Given the description of an element on the screen output the (x, y) to click on. 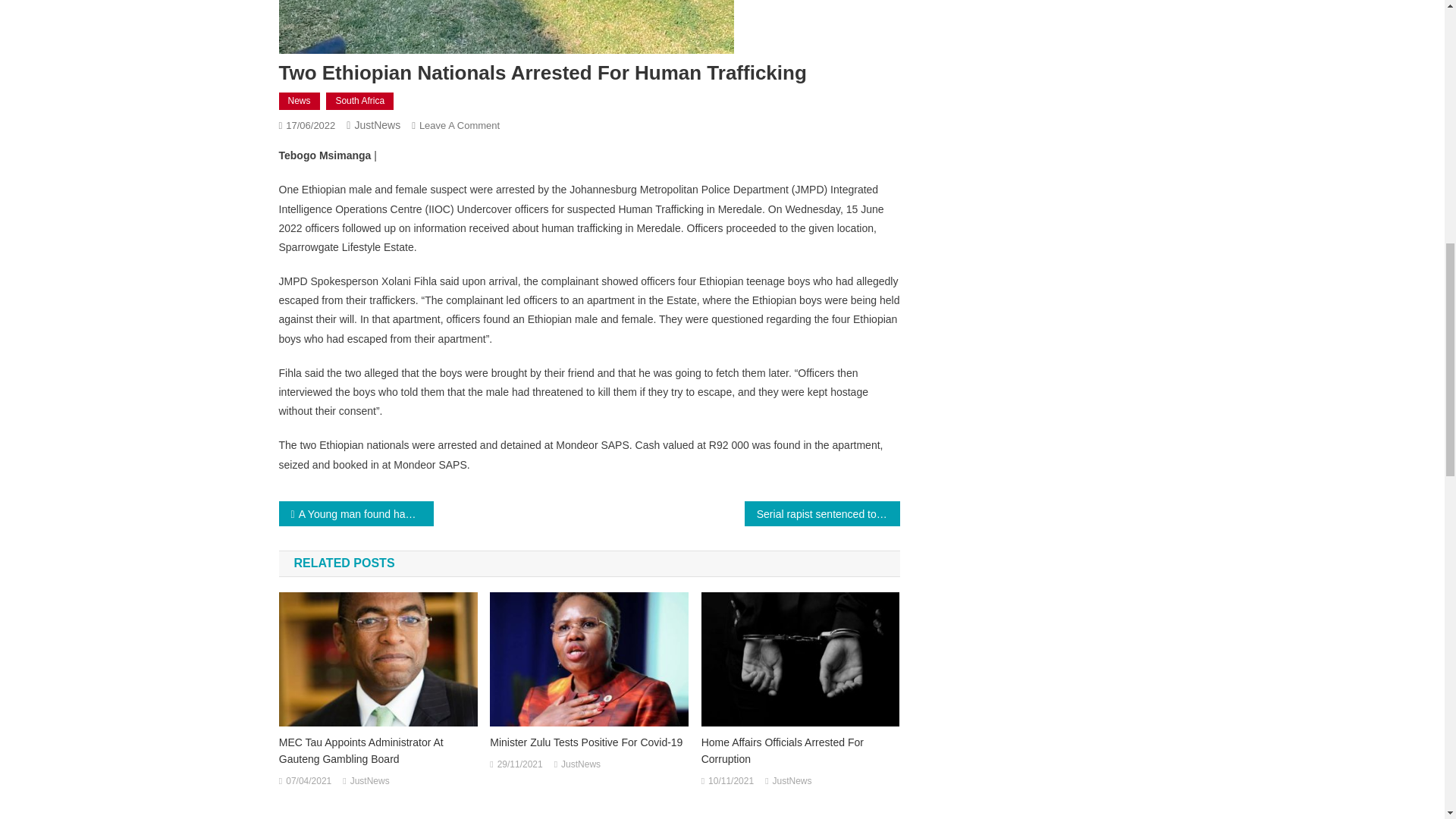
A Young man found hanging from a tree outside a hospital (356, 513)
JustNews (376, 124)
South Africa (359, 101)
JustNews (370, 781)
JustNews (579, 764)
News (299, 101)
Serial rapist sentenced to two life sentences (821, 513)
MEC Tau Appoints Administrator At Gauteng Gambling Board (378, 750)
Minister Zulu Tests Positive For Covid-19 (588, 742)
Home Affairs Officials Arrested For Corruption (800, 750)
